Given the description of an element on the screen output the (x, y) to click on. 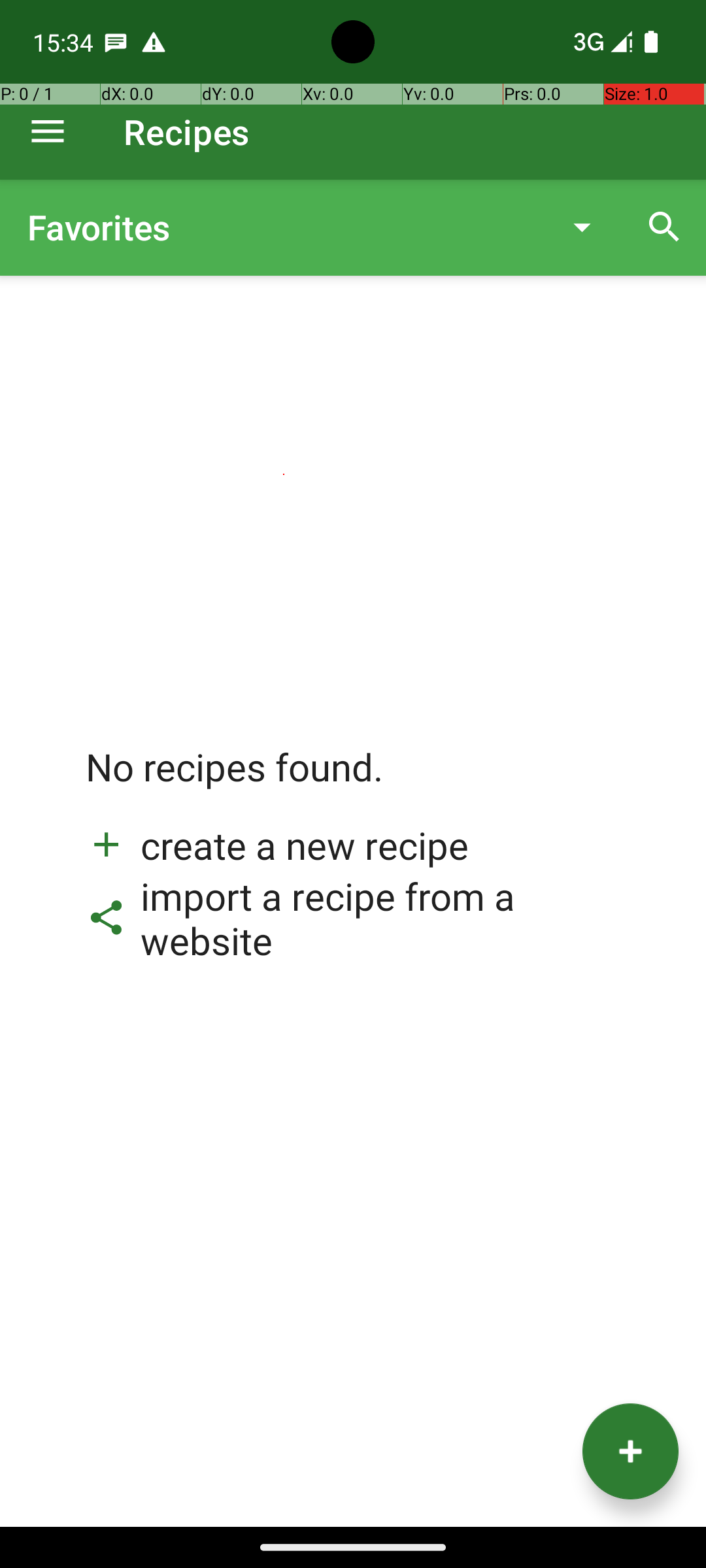
No recipes found. Element type: android.widget.TextView (234, 779)
create a new recipe Element type: android.widget.TextView (276, 844)
import a recipe from a website Element type: android.widget.TextView (352, 917)
